Given the description of an element on the screen output the (x, y) to click on. 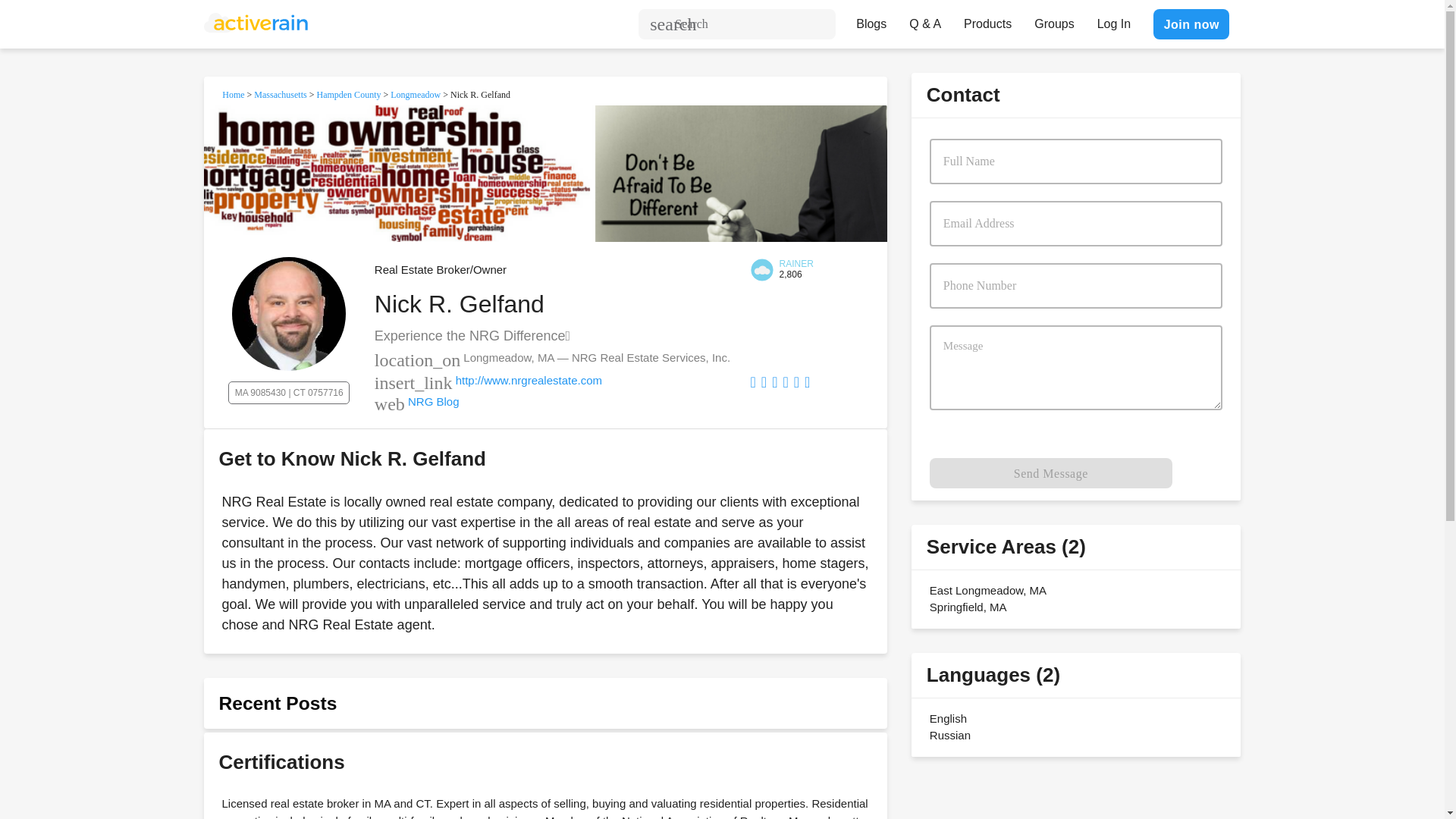
Products (986, 19)
Groups (1053, 19)
web NRG Blog (417, 400)
Send Message (1051, 472)
Recent Posts (277, 702)
Log In (1113, 19)
Massachusetts (279, 94)
Hampden County (347, 94)
Longmeadow (415, 94)
Send Message (1051, 472)
Blogs (870, 19)
Join now (1190, 24)
Home (233, 94)
